Given the description of an element on the screen output the (x, y) to click on. 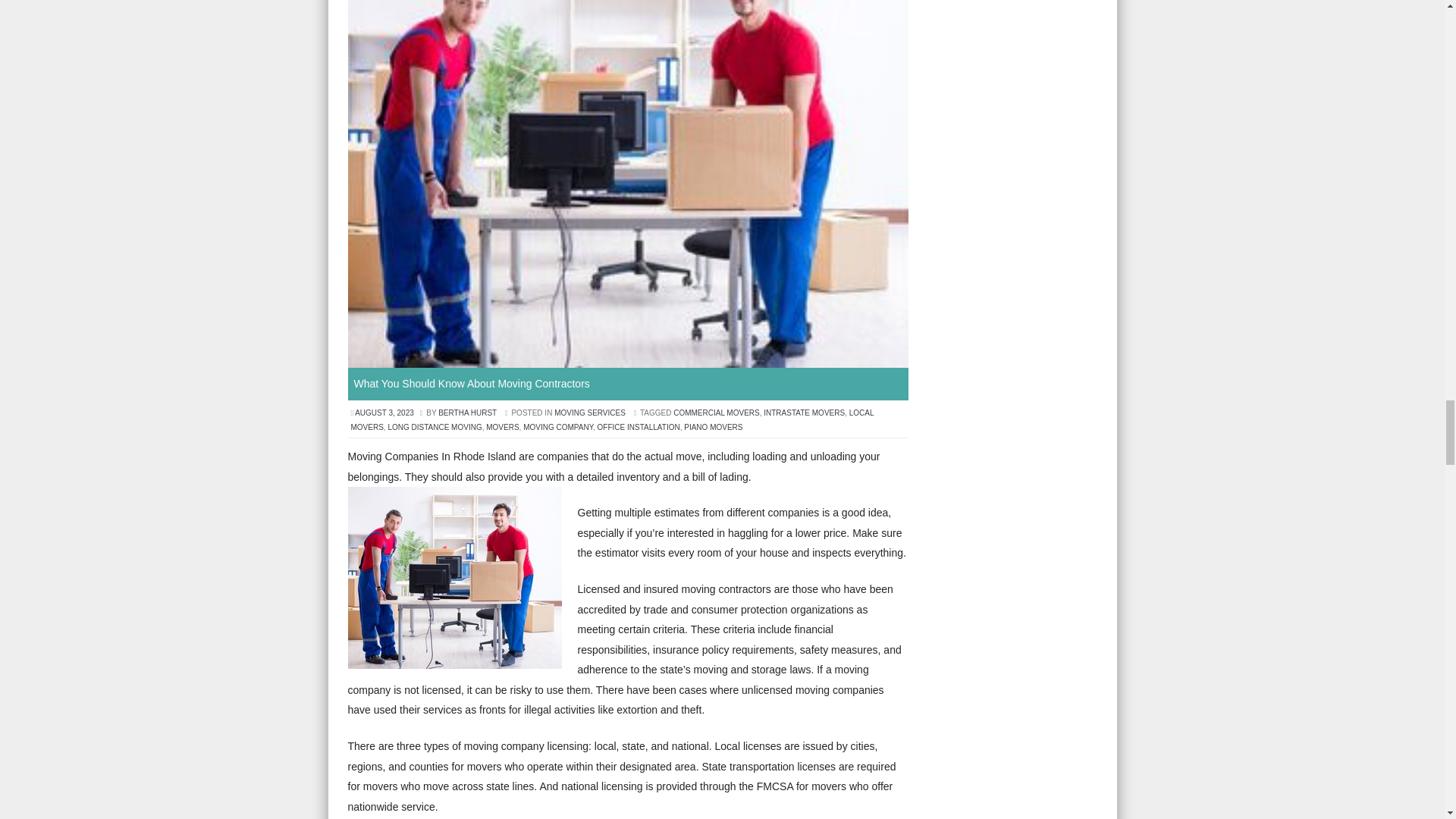
INTRASTATE MOVERS (803, 412)
View all posts by Bertha Hurst (467, 412)
AUGUST 3, 2023 (384, 412)
LOCAL MOVERS (611, 419)
What You Should Know About Moving Contractors (471, 383)
LONG DISTANCE MOVING (434, 427)
COMMERCIAL MOVERS (716, 412)
MOVERS (502, 427)
BERTHA HURST (467, 412)
MOVING SERVICES (590, 412)
